Given the description of an element on the screen output the (x, y) to click on. 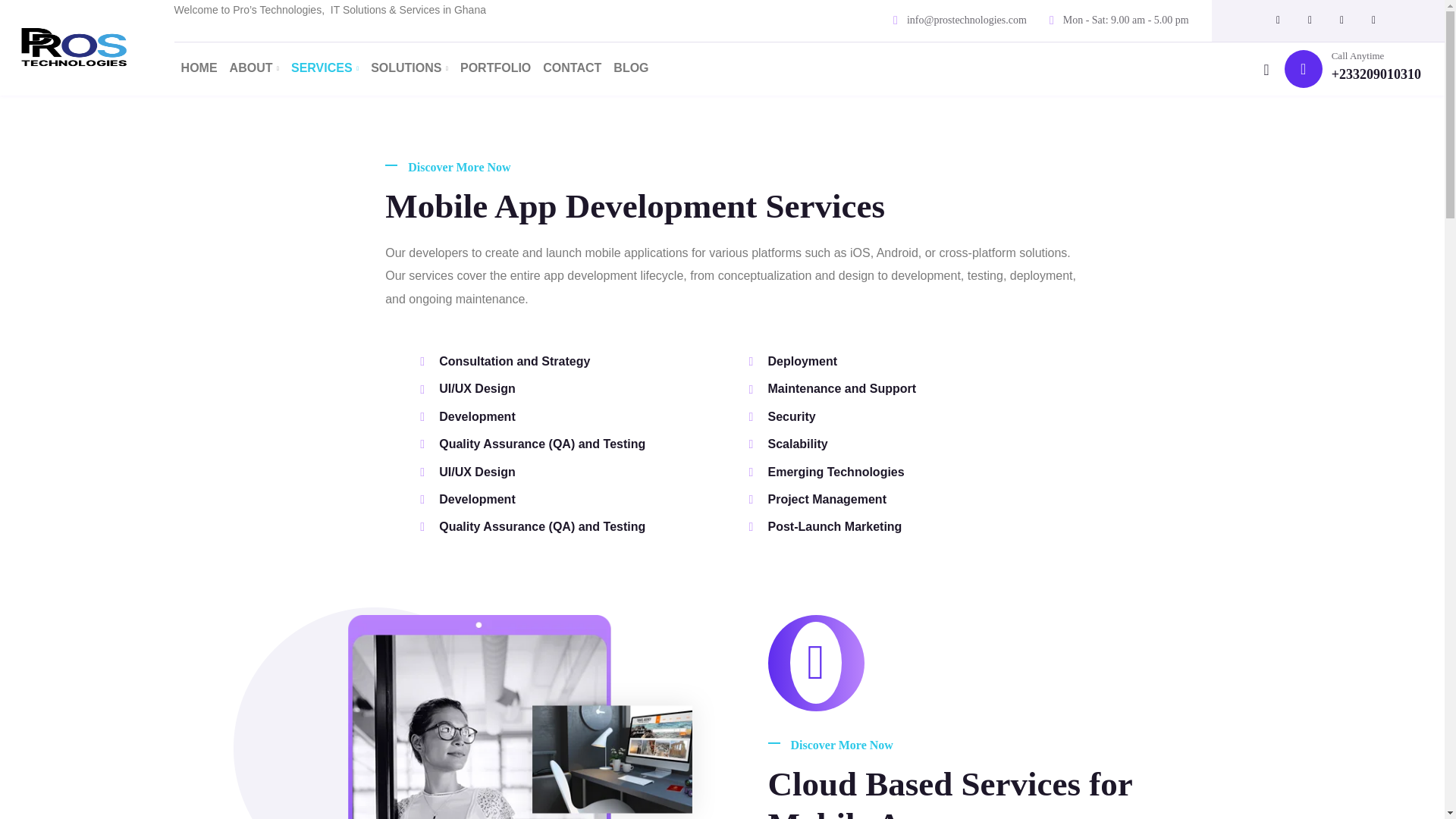
SERVICES (318, 67)
address (1376, 74)
HOME (192, 67)
address (966, 20)
ABOUT (247, 67)
